Given the description of an element on the screen output the (x, y) to click on. 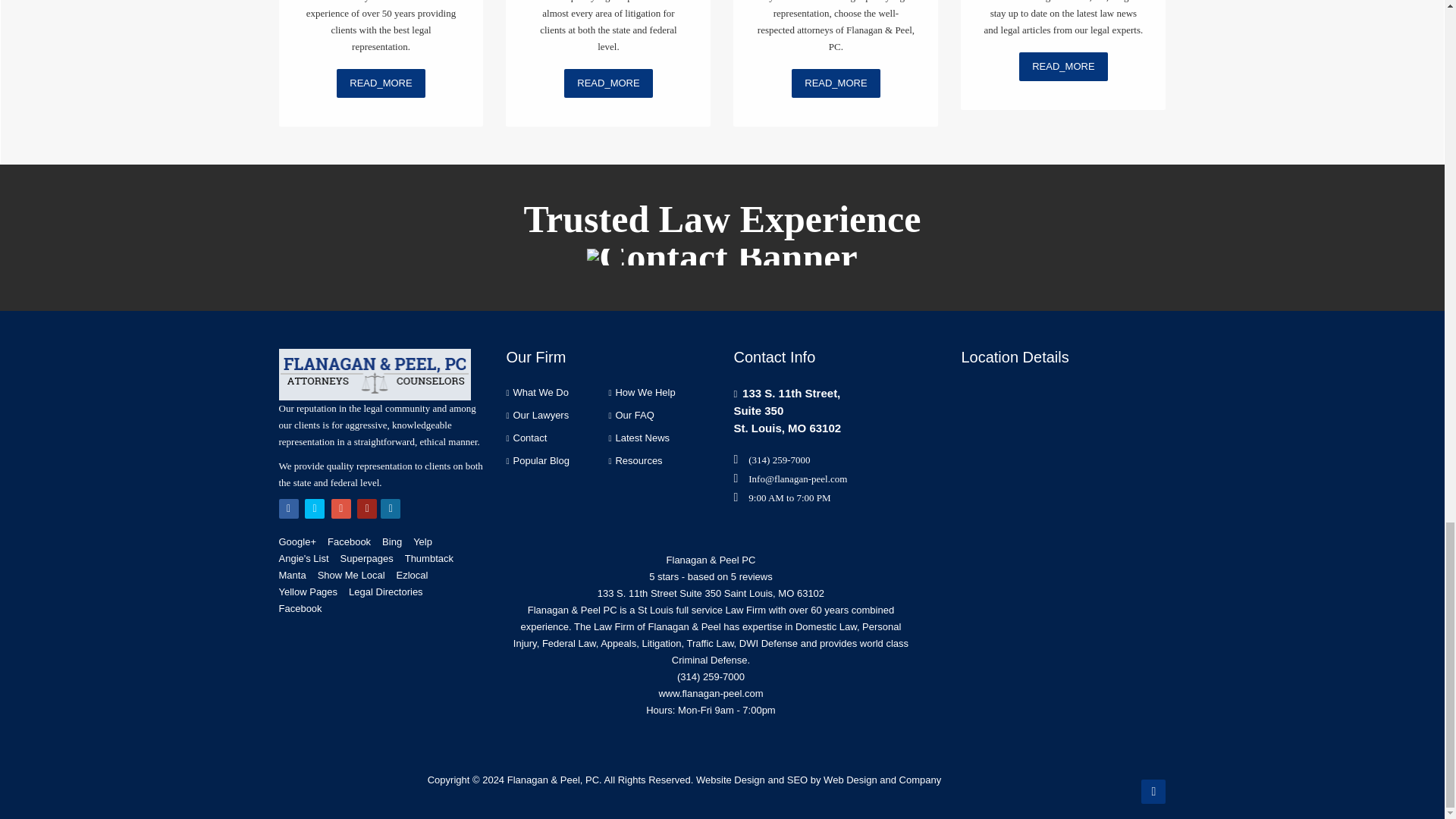
Goto Top (1153, 791)
